Given the description of an element on the screen output the (x, y) to click on. 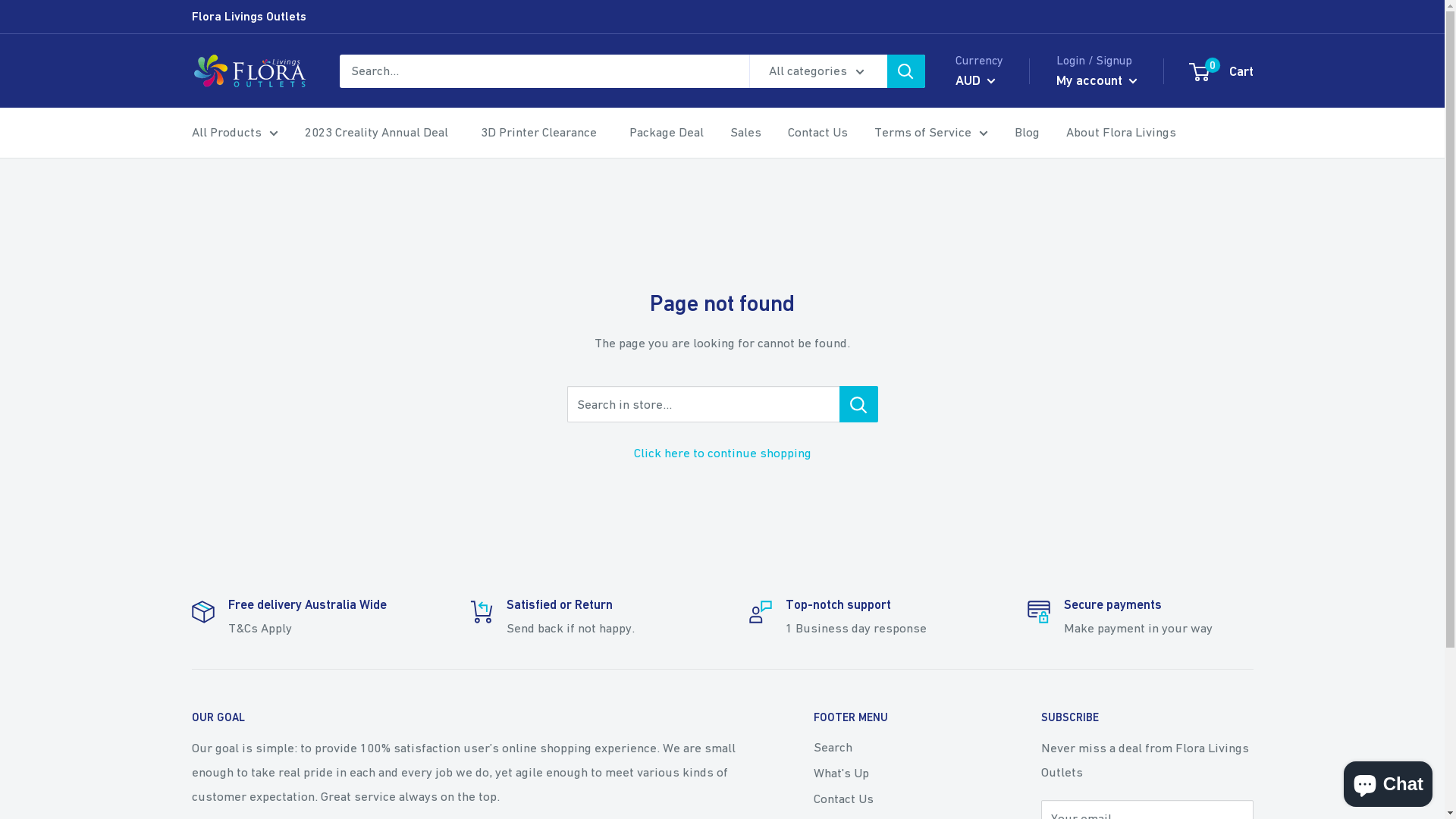
Sales Element type: text (744, 132)
About Flora Livings Element type: text (1121, 132)
All Products Element type: text (234, 132)
AUD Element type: text (975, 80)
FOOTER MENU Element type: text (899, 717)
Search Element type: text (899, 747)
2023 Creality Annual Deal Element type: text (376, 132)
Shopify online store chat Element type: hover (1388, 780)
Blog Element type: text (1026, 132)
Contact Us Element type: text (817, 132)
Click here to continue shopping Element type: text (722, 452)
Terms of Service Element type: text (930, 132)
0
Cart Element type: text (1221, 71)
Package Deal Element type: text (666, 132)
My account Element type: text (1095, 80)
Contact Us Element type: text (899, 799)
What's Up Element type: text (899, 773)
Flora Livings Outlets Element type: text (248, 16)
OUR GOAL Element type: text (475, 717)
